Given the description of an element on the screen output the (x, y) to click on. 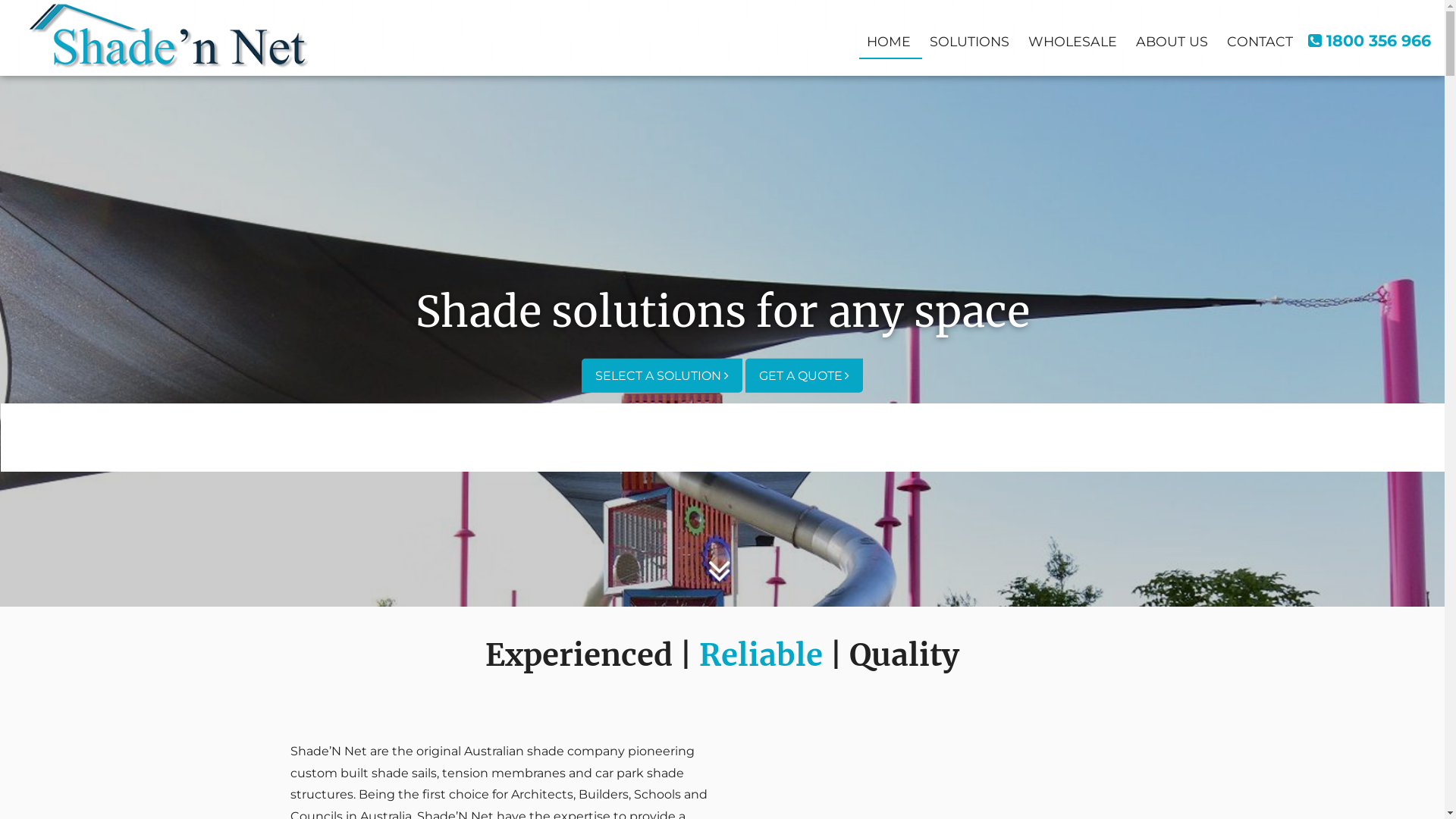
SOLUTIONS Element type: text (969, 39)
GET A QUOTE Element type: text (803, 374)
CONTACT Element type: text (1259, 39)
WHOLESALE Element type: text (1072, 39)
ABOUT US Element type: text (1171, 39)
SELECT A SOLUTION Element type: text (661, 374)
Shade N Net Element type: hover (168, 34)
1800 356 966 Element type: text (1369, 40)
HOME Element type: text (888, 39)
